Given the description of an element on the screen output the (x, y) to click on. 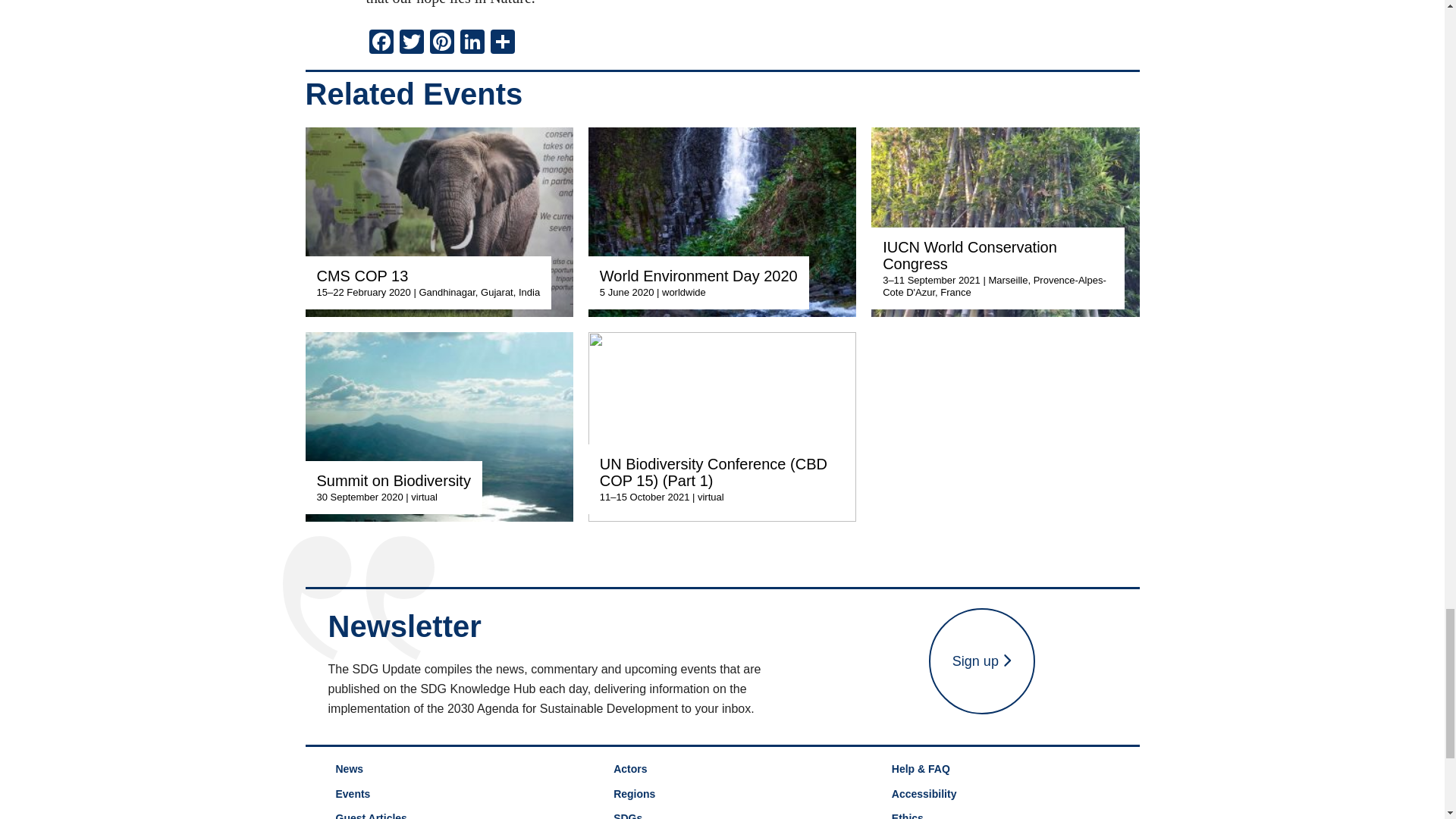
Pinterest (441, 43)
Twitter (411, 43)
LinkedIn (471, 43)
Facebook (380, 43)
Twitter (411, 43)
Facebook (380, 43)
